Given the description of an element on the screen output the (x, y) to click on. 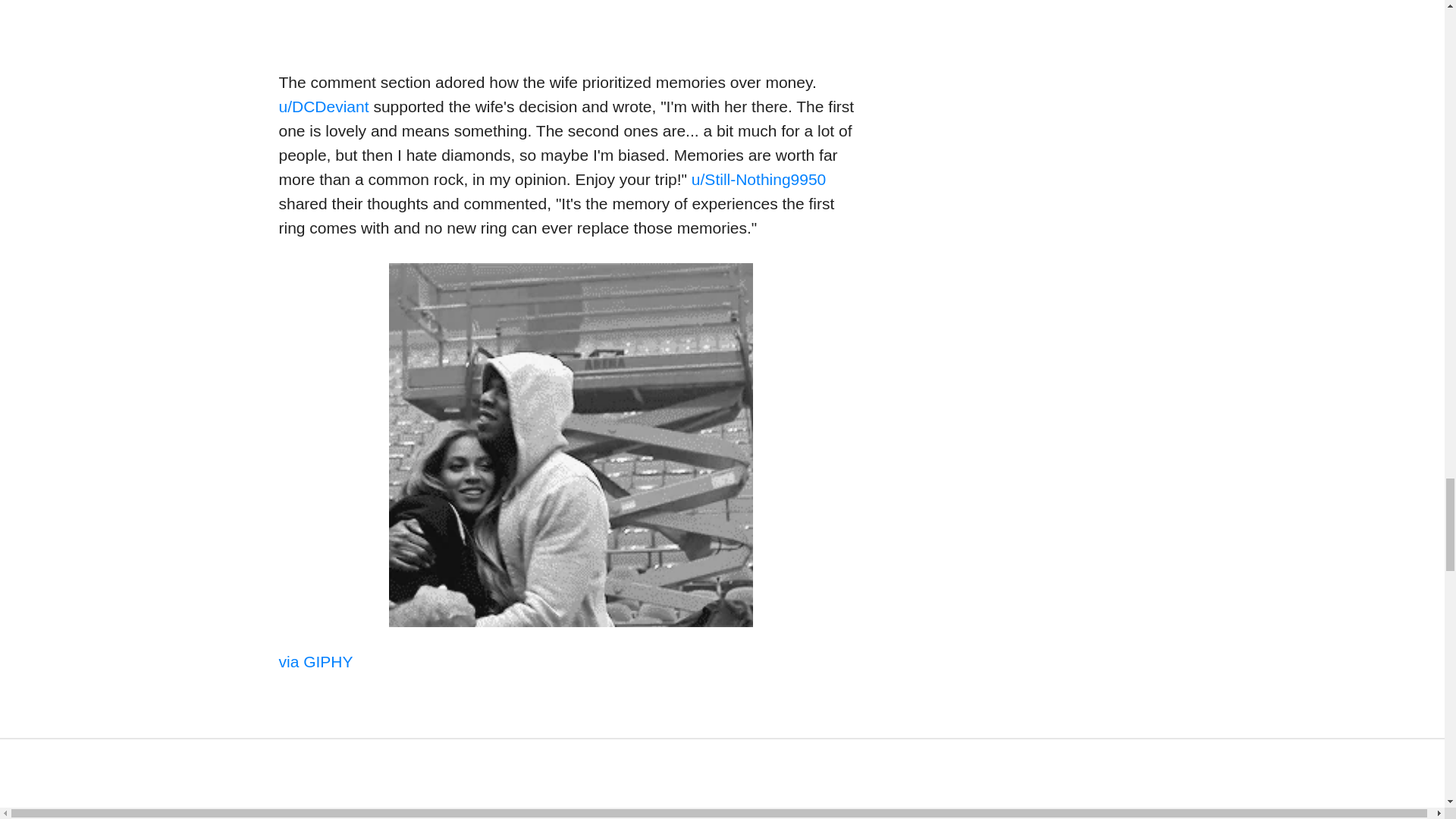
via GIPHY (316, 661)
